Given the description of an element on the screen output the (x, y) to click on. 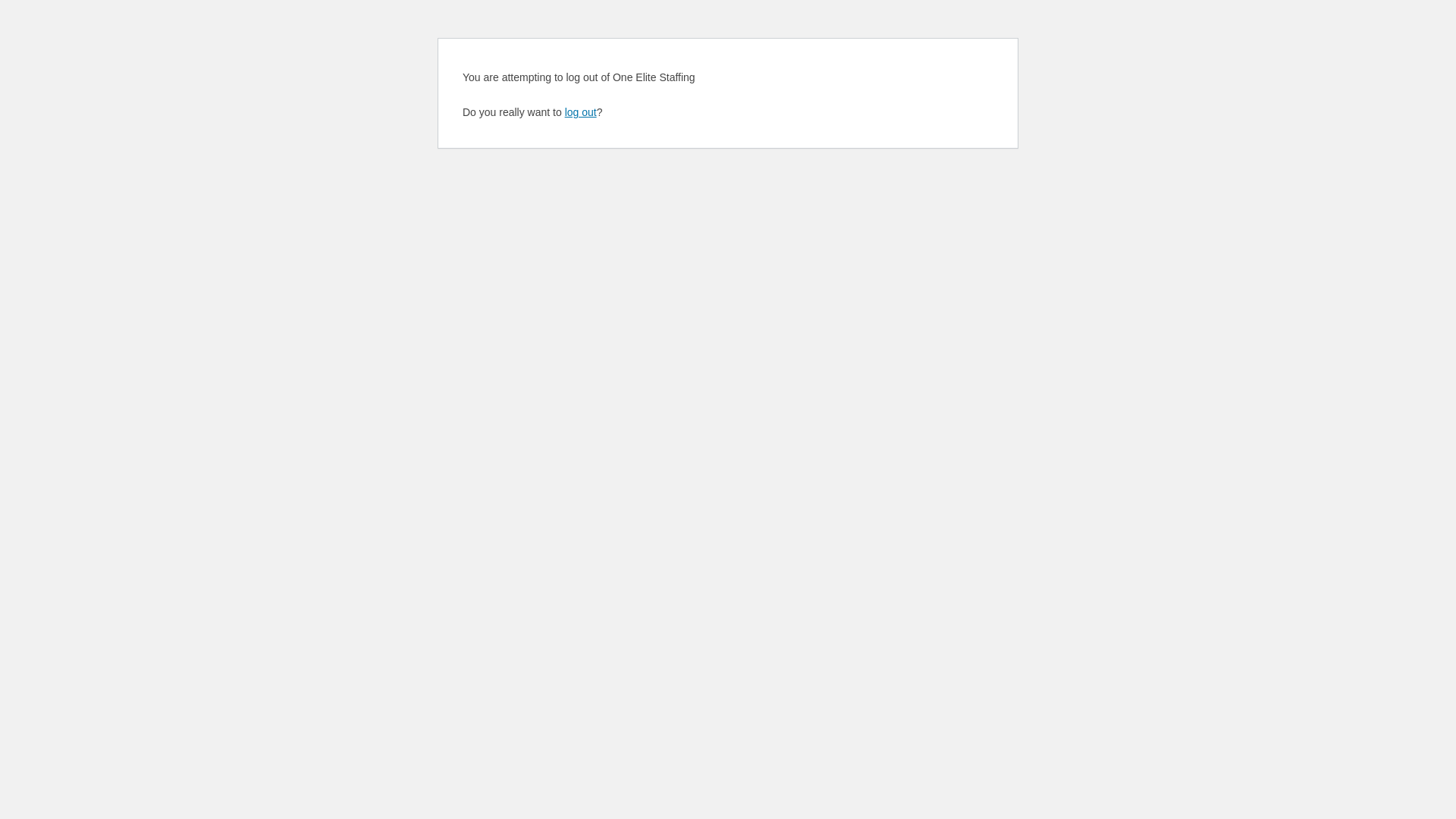
log out Element type: text (580, 112)
